Given the description of an element on the screen output the (x, y) to click on. 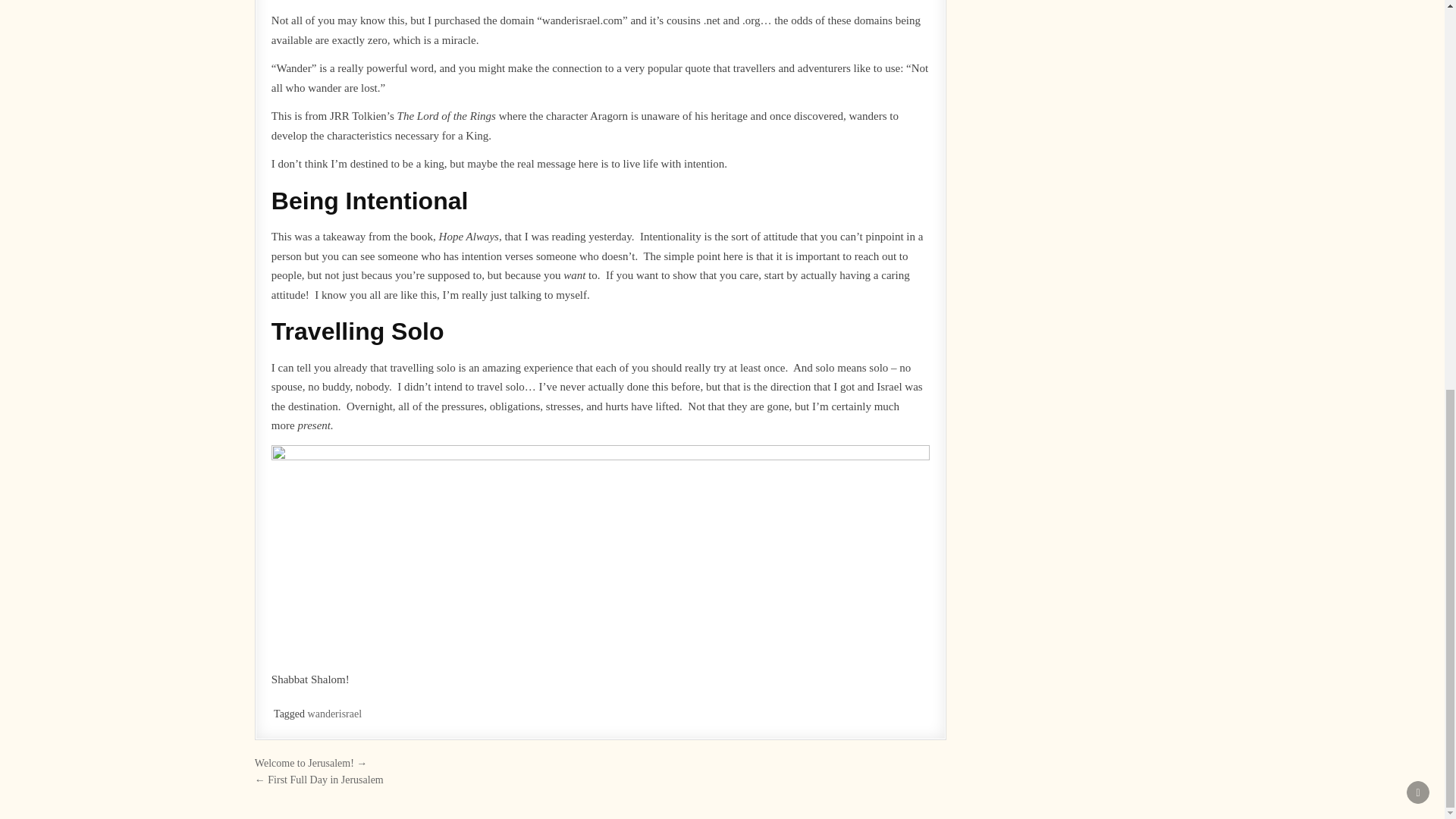
SCROLL TO TOP (1417, 76)
Scroll to Top (1417, 76)
SCROLL TO TOP (1417, 76)
WANDERISRAEL (624, 698)
